Given the description of an element on the screen output the (x, y) to click on. 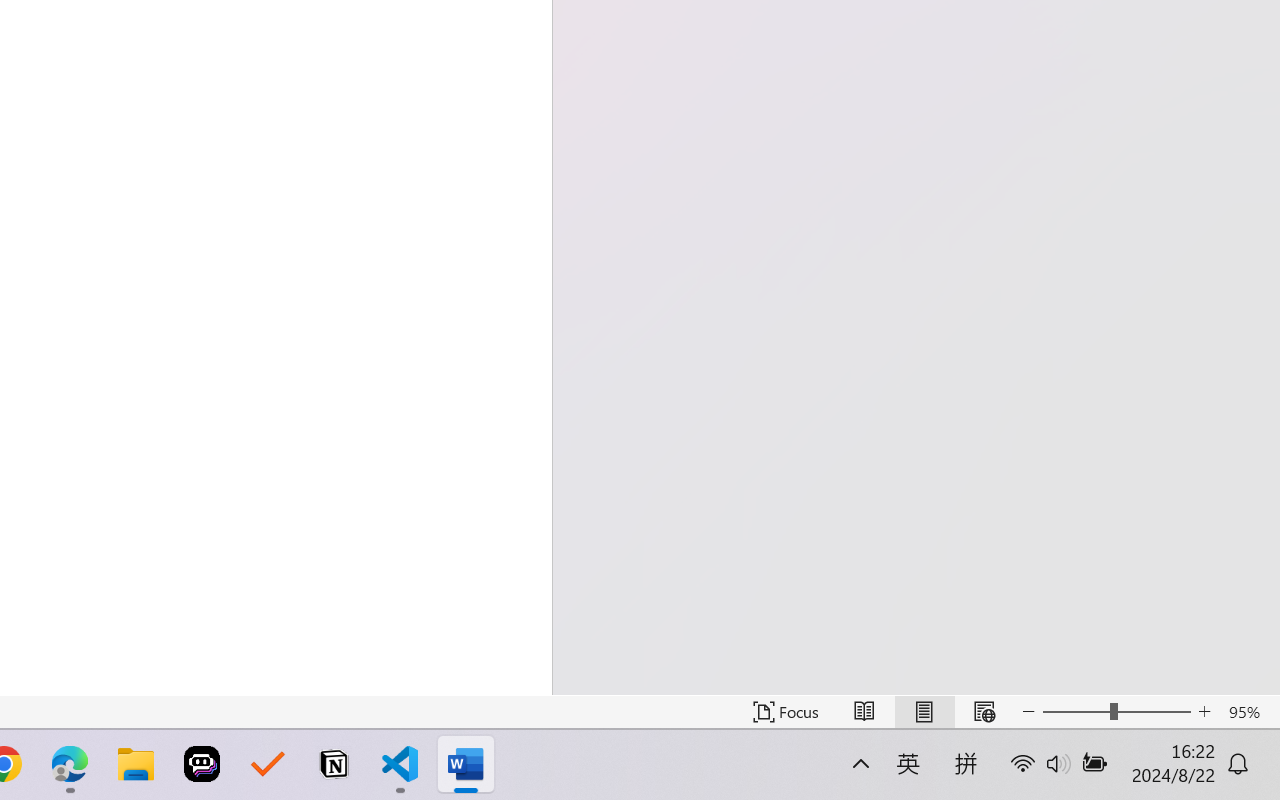
Zoom 95% (1249, 712)
